Given the description of an element on the screen output the (x, y) to click on. 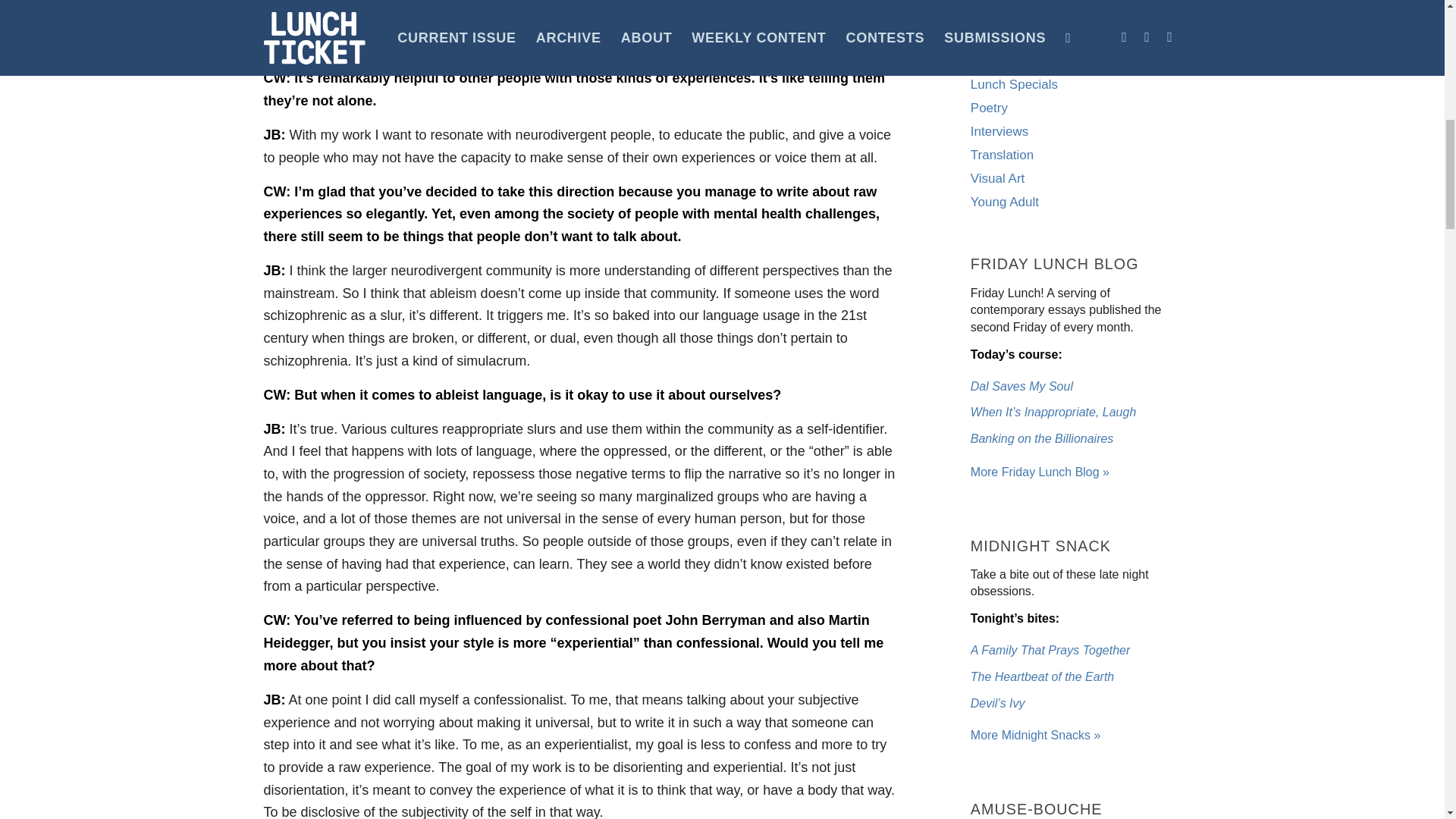
Permanent Link: Banking on the Billionaires (1042, 438)
Permanent Link: Dal Saves My Soul (1022, 386)
Permanent Link: The Heartbeat of the Earth (1042, 676)
Welcome to Lunch Ticket (1040, 472)
Permanent Link: A Family That Prays Together (1050, 649)
